Given the description of an element on the screen output the (x, y) to click on. 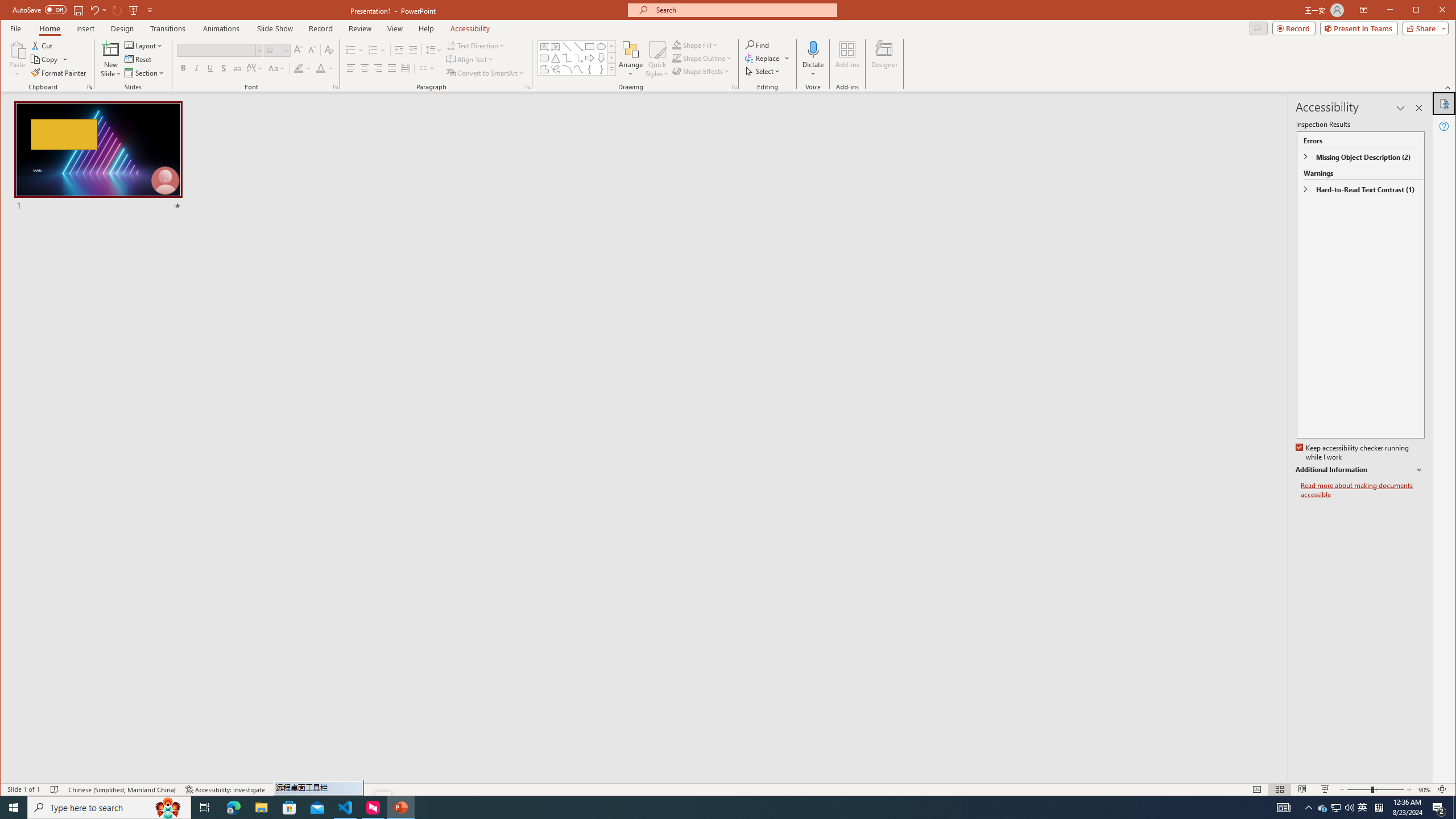
Insert (85, 28)
Copy (45, 59)
Strikethrough (237, 68)
Shape Outline (702, 57)
Q2790: 100% (1349, 807)
View (395, 28)
Shape Effects (702, 70)
Row Down (611, 57)
Font Size (277, 49)
Font Size (273, 50)
Zoom 90% (1424, 789)
Numbering (376, 49)
Present in Teams (1358, 28)
Class: NetUIImage (612, 69)
